Given the description of an element on the screen output the (x, y) to click on. 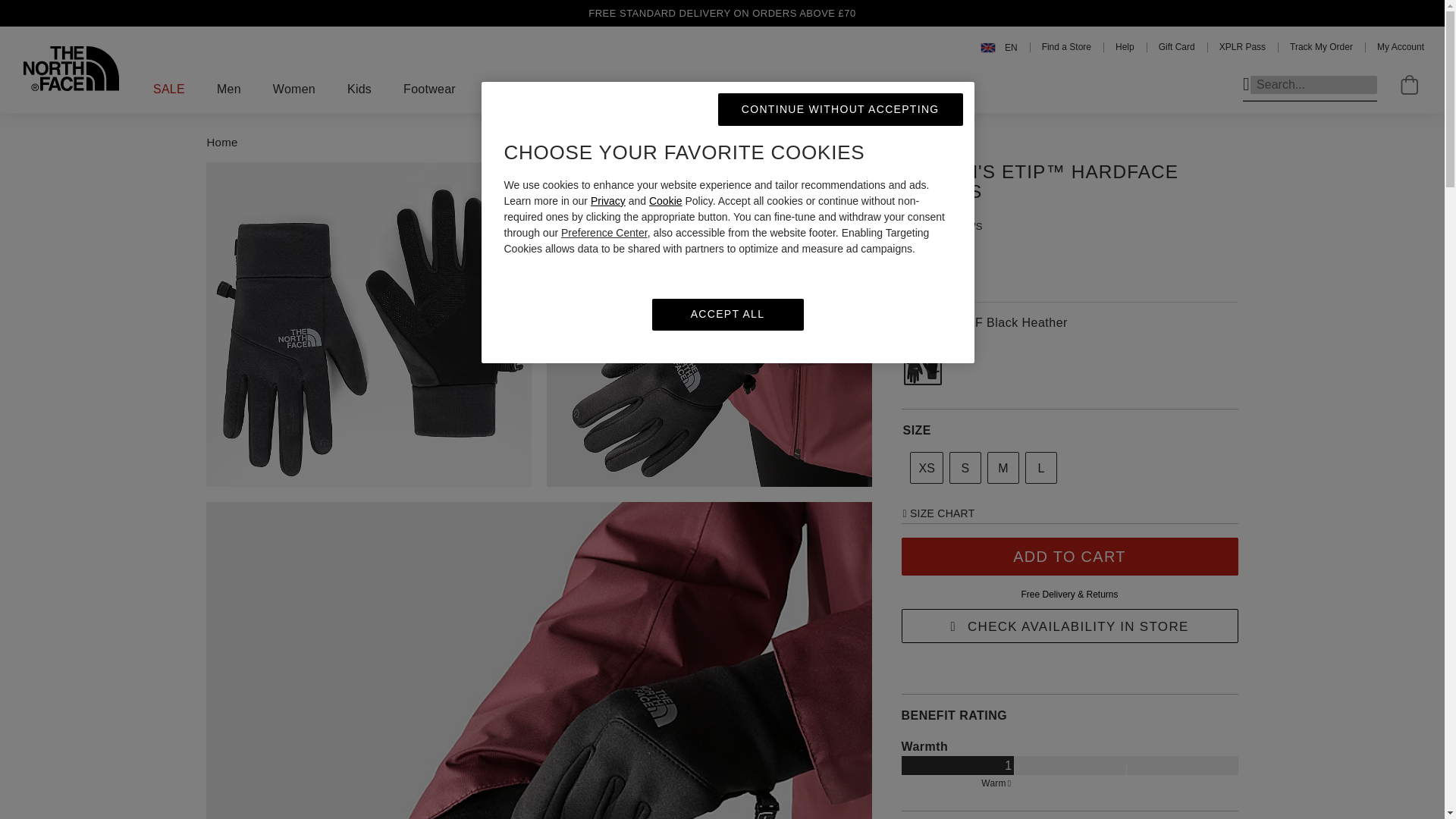
SALE (168, 89)
XPLR Pass (1242, 46)
Gift Card (1176, 46)
XPLR Pass (1242, 46)
Track My Order (1321, 46)
Gift Card (1176, 46)
Men (229, 89)
United-Kingdom (998, 46)
EN (998, 46)
Men (229, 89)
Find a Store (1066, 46)
SALE (168, 89)
Find a Store (1066, 46)
My Account (1400, 46)
Track My Order (1321, 46)
